Given the description of an element on the screen output the (x, y) to click on. 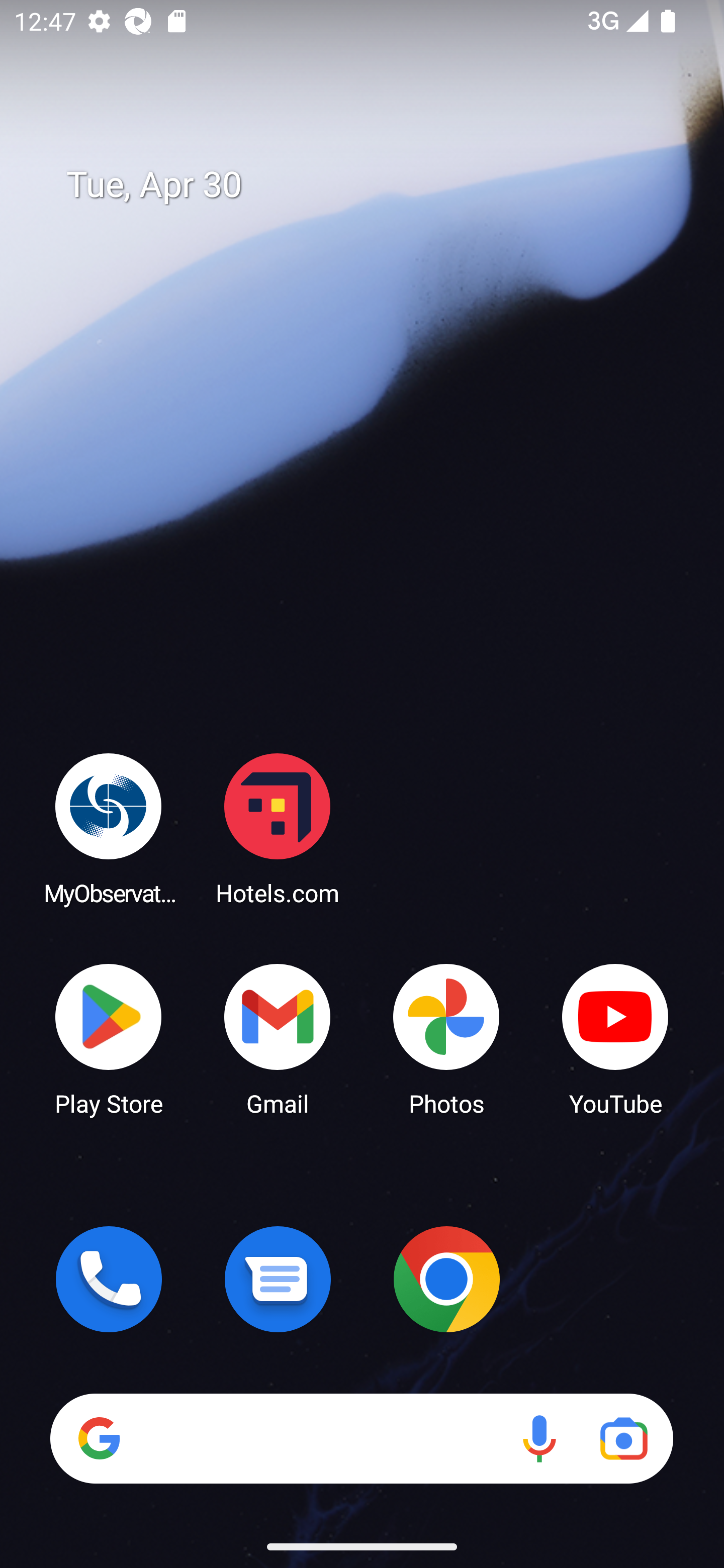
Tue, Apr 30 (375, 184)
MyObservatory (108, 828)
Hotels.com (277, 828)
Play Store (108, 1038)
Gmail (277, 1038)
Photos (445, 1038)
YouTube (615, 1038)
Phone (108, 1279)
Messages (277, 1279)
Chrome (446, 1279)
Voice search (539, 1438)
Google Lens (623, 1438)
